Given the description of an element on the screen output the (x, y) to click on. 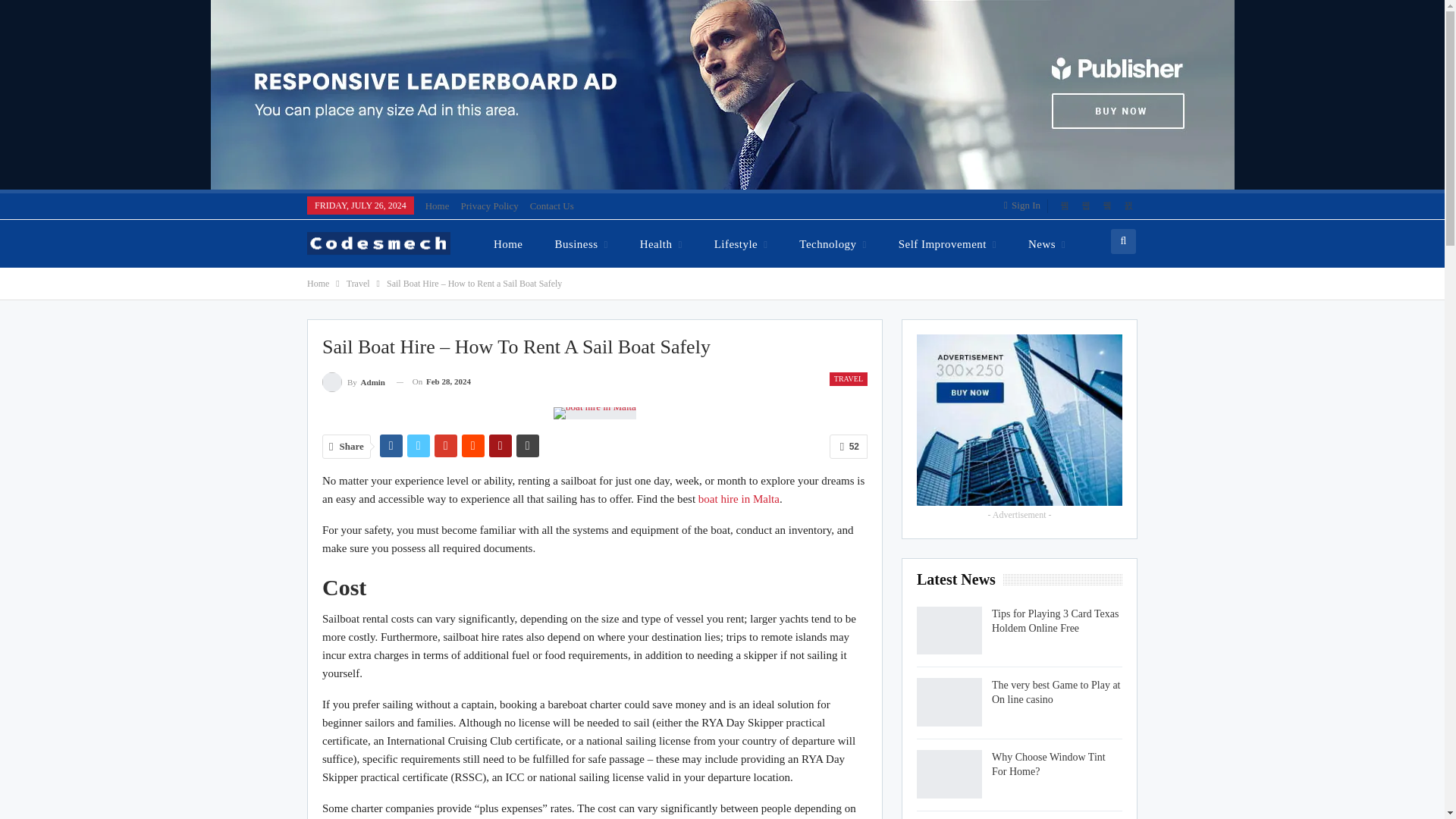
Sign In (1025, 205)
Home (437, 205)
Lifestyle (740, 243)
Self Improvement (947, 243)
Home (508, 243)
Health (660, 243)
Business (580, 243)
Tips for Playing 3 Card Texas Holdem Online Free (949, 630)
Browse Author Articles (353, 381)
Privacy Policy (489, 205)
Contact Us (551, 205)
The very best Game to Play at On line casino (949, 702)
Technology (832, 243)
